Given the description of an element on the screen output the (x, y) to click on. 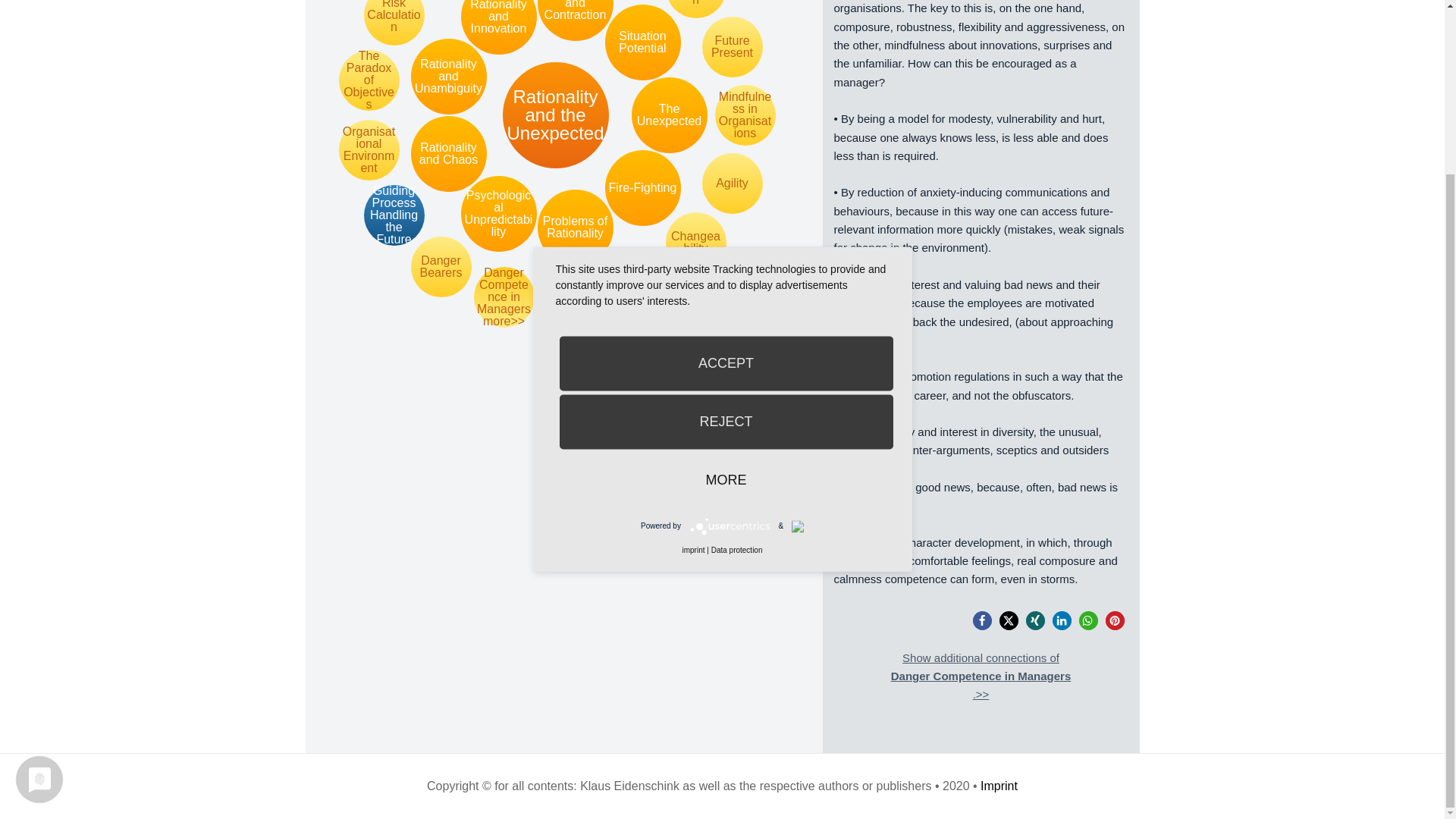
Guiding Process Handling the Future (394, 215)
Rationality and Unambiguity (448, 76)
Rationality and Innovation (499, 27)
Mindfulness in Organisations (744, 115)
Rationality and the Unexpected (555, 115)
Danger Bearers (440, 266)
Rationality and Chaos (448, 153)
The Paradox of Objectives (367, 79)
Psychological Unpredictability (499, 213)
Organisational Environment (367, 149)
